Given the description of an element on the screen output the (x, y) to click on. 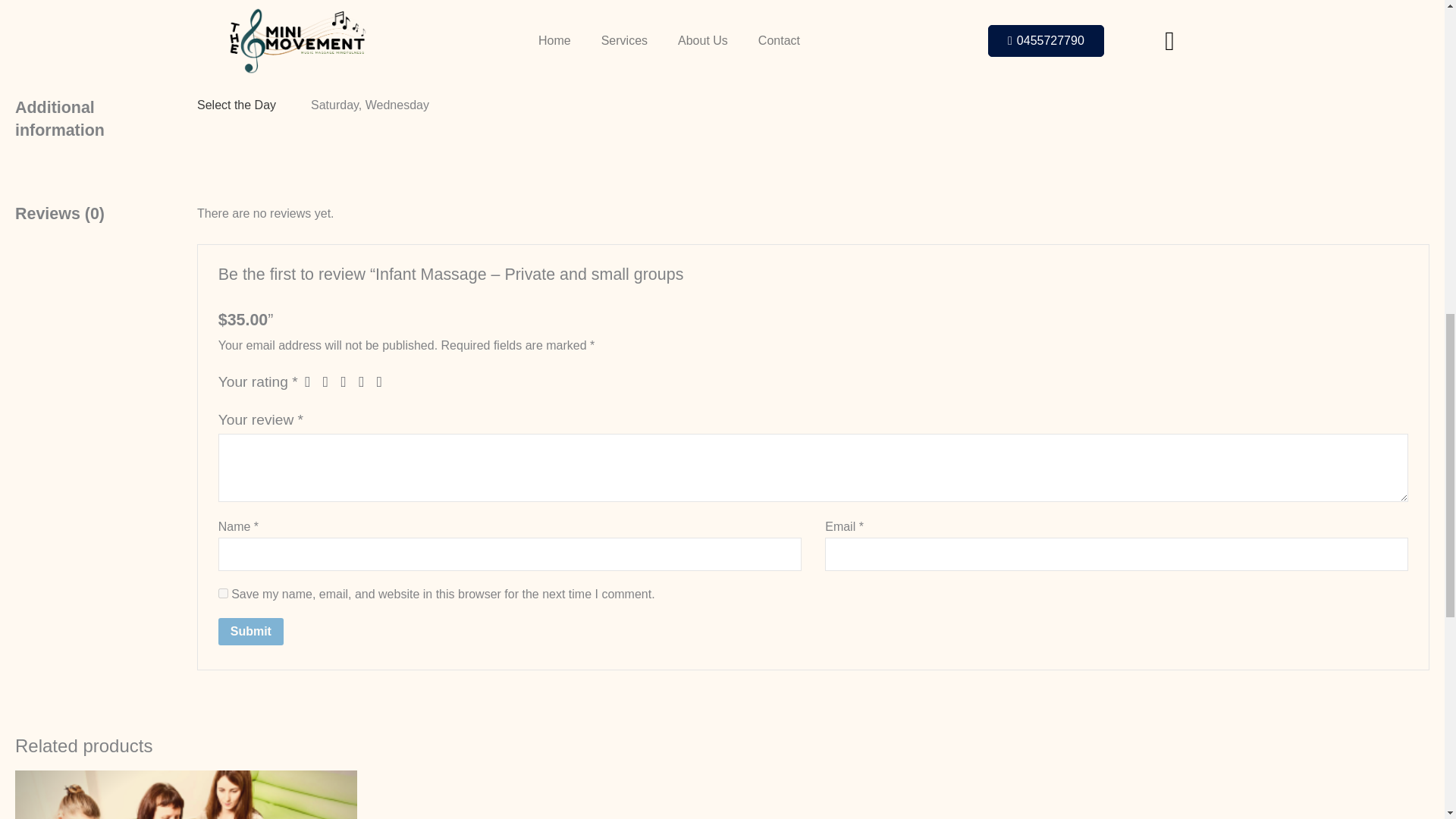
4 (365, 381)
2 (330, 381)
3 (347, 381)
5 (384, 381)
yes (223, 593)
Submit (250, 631)
1 (311, 381)
Submit (250, 631)
